Given the description of an element on the screen output the (x, y) to click on. 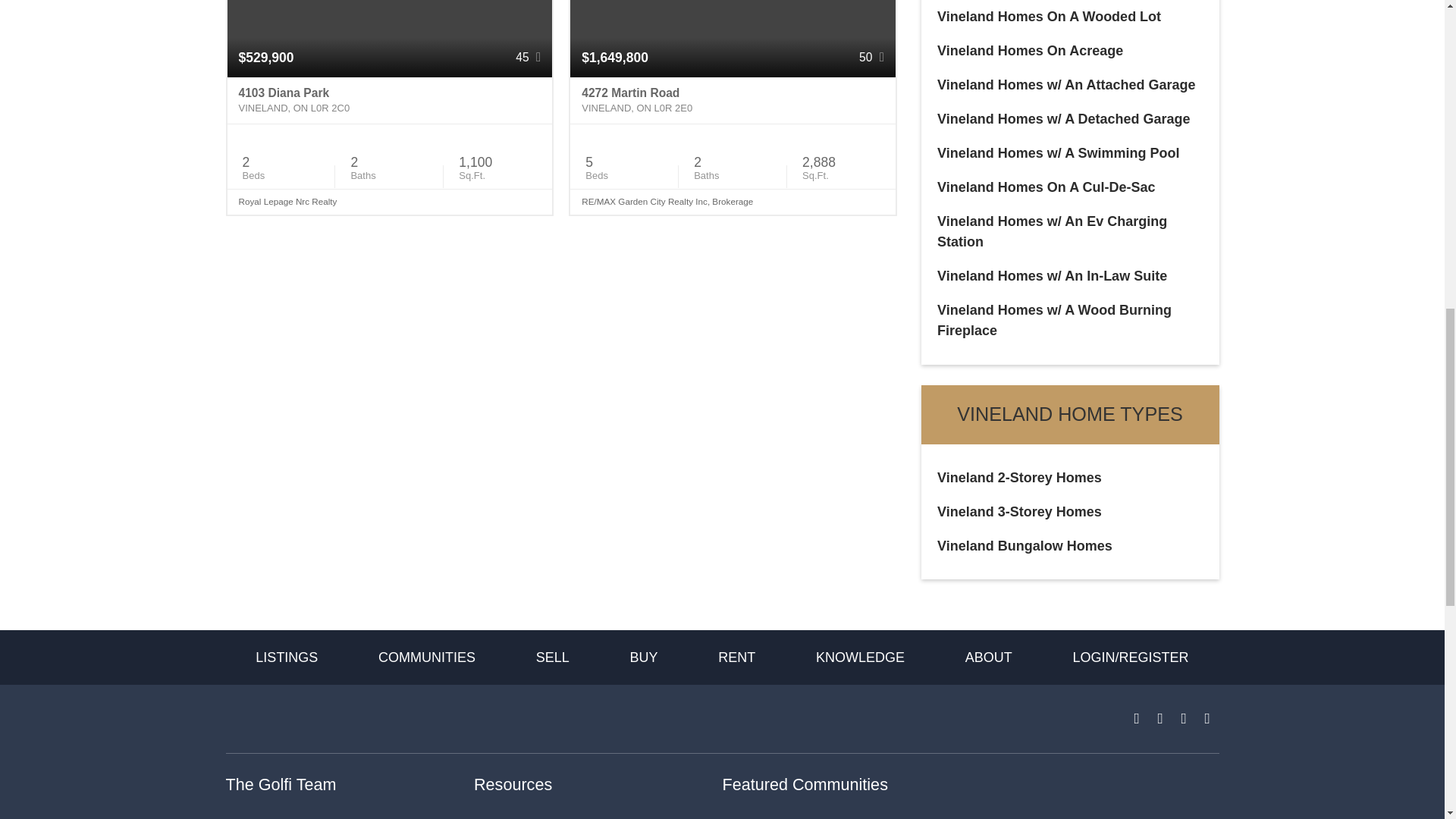
Follow us on LinkedIn (1183, 719)
Follow us on YouTube (1207, 719)
4272 Martin Road Vineland,  ON L0R 2E0 (732, 100)
Home Page (307, 717)
Follow us on Instagram (1160, 719)
Follow us on Facebook (1136, 719)
4103 Diana Park Vineland,  ON L0R 2C0 (390, 100)
